Given the description of an element on the screen output the (x, y) to click on. 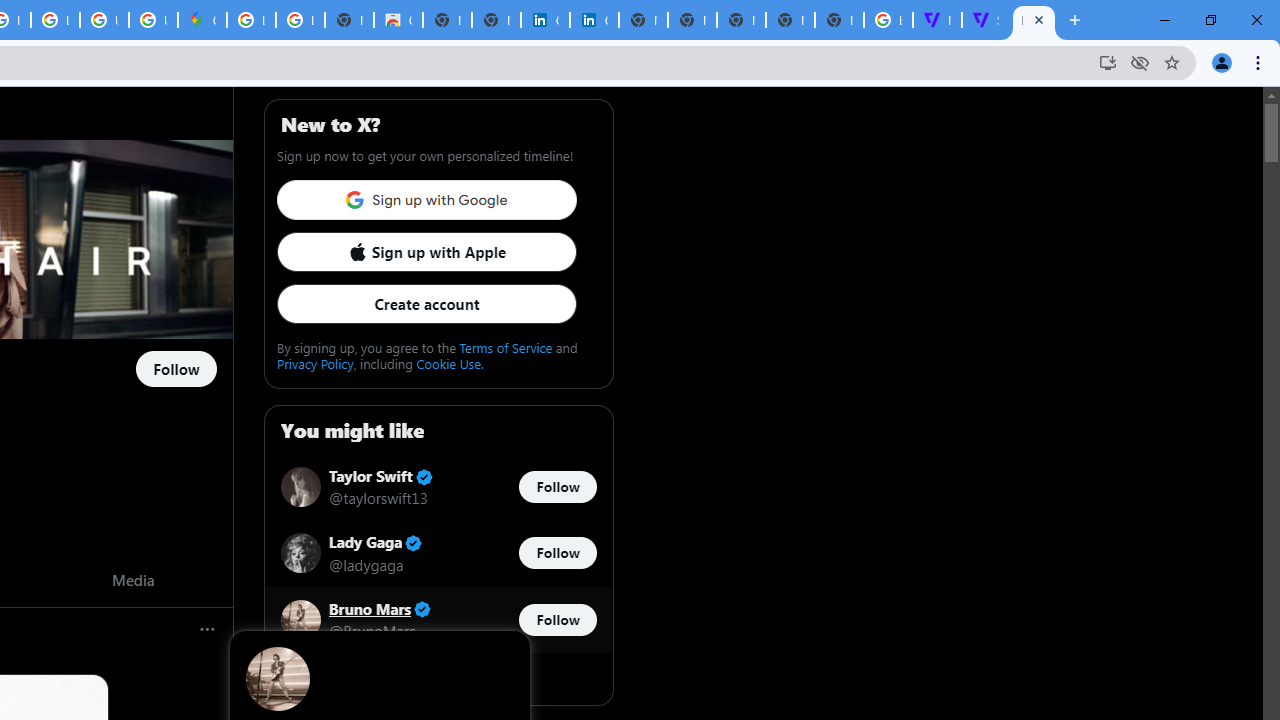
New Tab (839, 20)
Follow @taylorswift13 (557, 486)
Show more (438, 678)
@taylorswift13 (377, 498)
Streaming - The Verge (985, 20)
Cookie Policy | LinkedIn (594, 20)
Rihanna (@rihanna) / X (1033, 20)
Bruno Mars Verified account (380, 609)
